Given the description of an element on the screen output the (x, y) to click on. 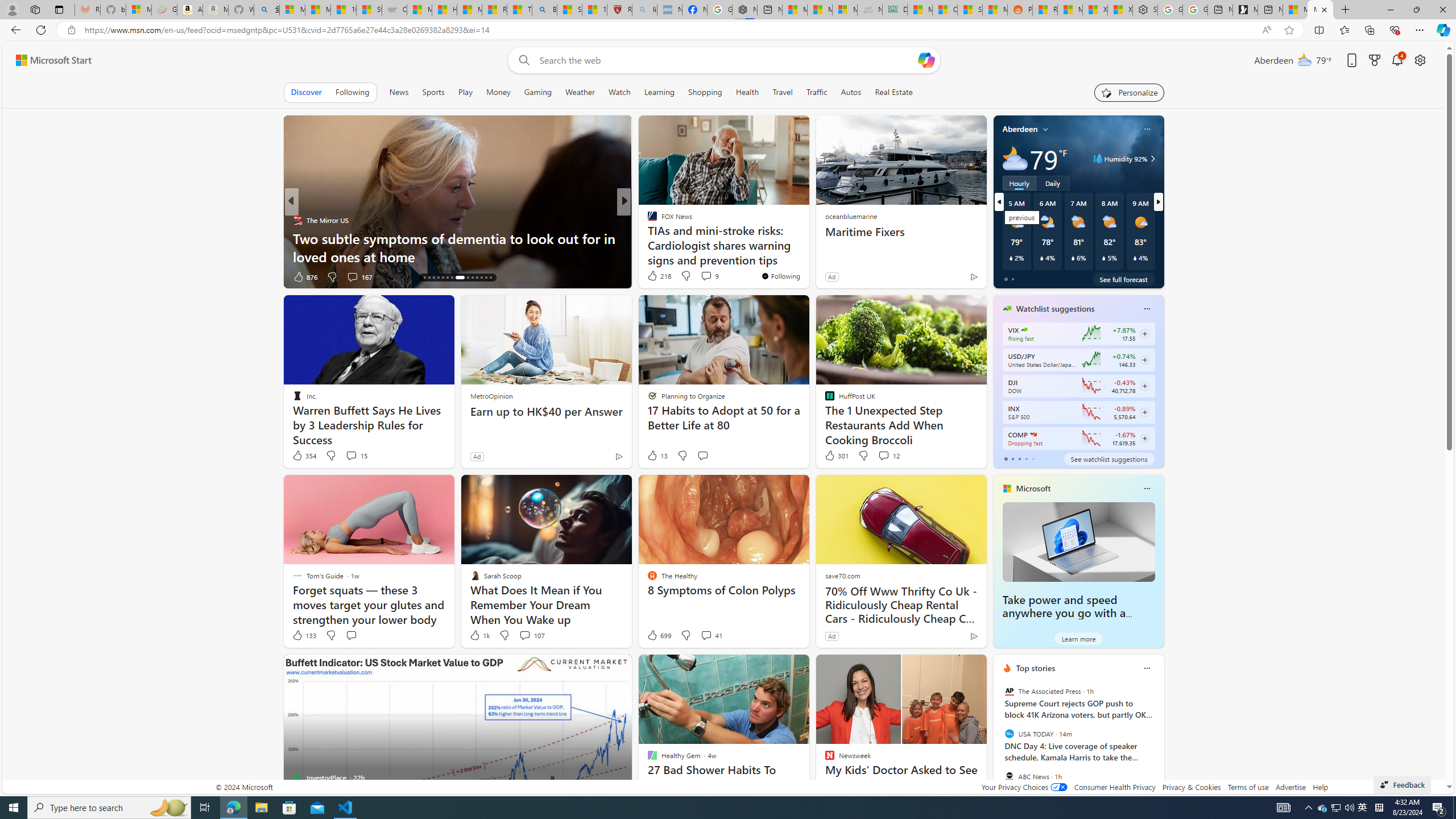
tab-4 (1032, 458)
See full forecast (1123, 278)
previous (998, 741)
See watchlist suggestions (1108, 459)
Hourly (1018, 183)
